Given the description of an element on the screen output the (x, y) to click on. 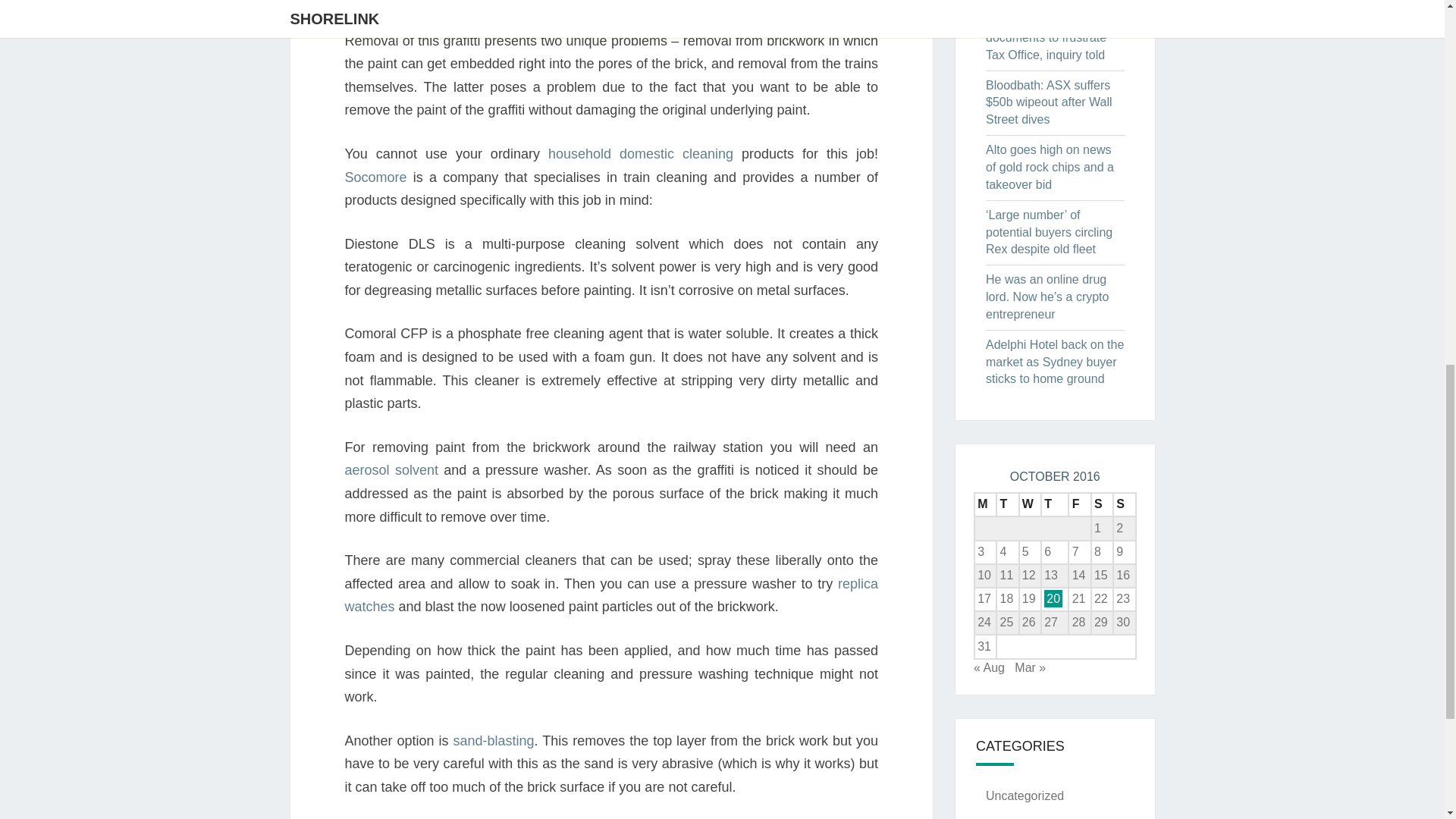
Wednesday (1030, 504)
Uncategorized (1024, 795)
Sunday (1124, 504)
Alto goes high on news of gold rock chips and a takeover bid (1049, 166)
aerosol solvent (390, 469)
replica watches (610, 595)
household domestic cleaning (640, 153)
Monday (984, 504)
sand-blasting (493, 740)
Socomore (374, 177)
Saturday (1101, 504)
20 (1052, 598)
Thursday (1054, 504)
